Given the description of an element on the screen output the (x, y) to click on. 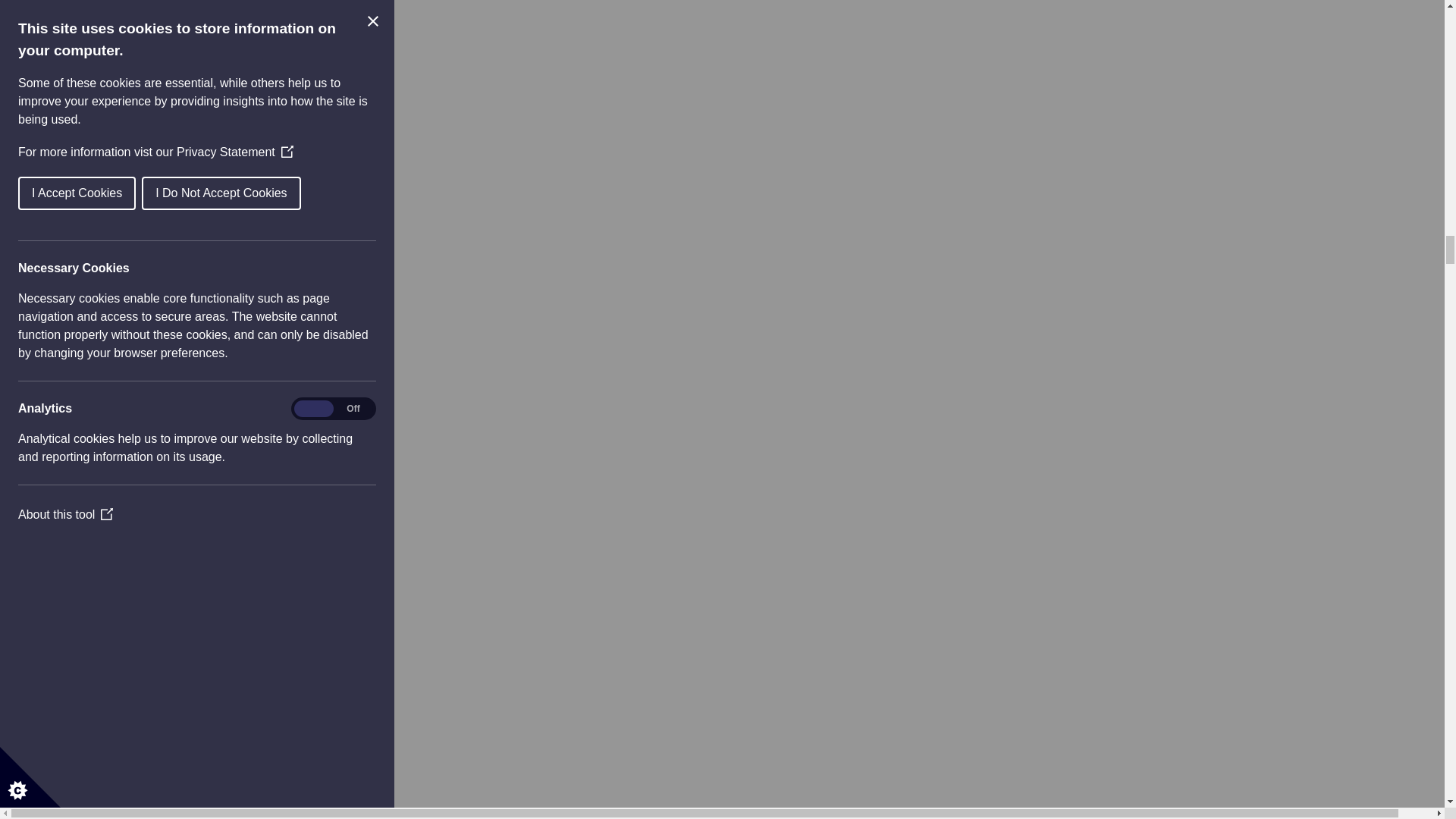
01 (92, 471)
